Given the description of an element on the screen output the (x, y) to click on. 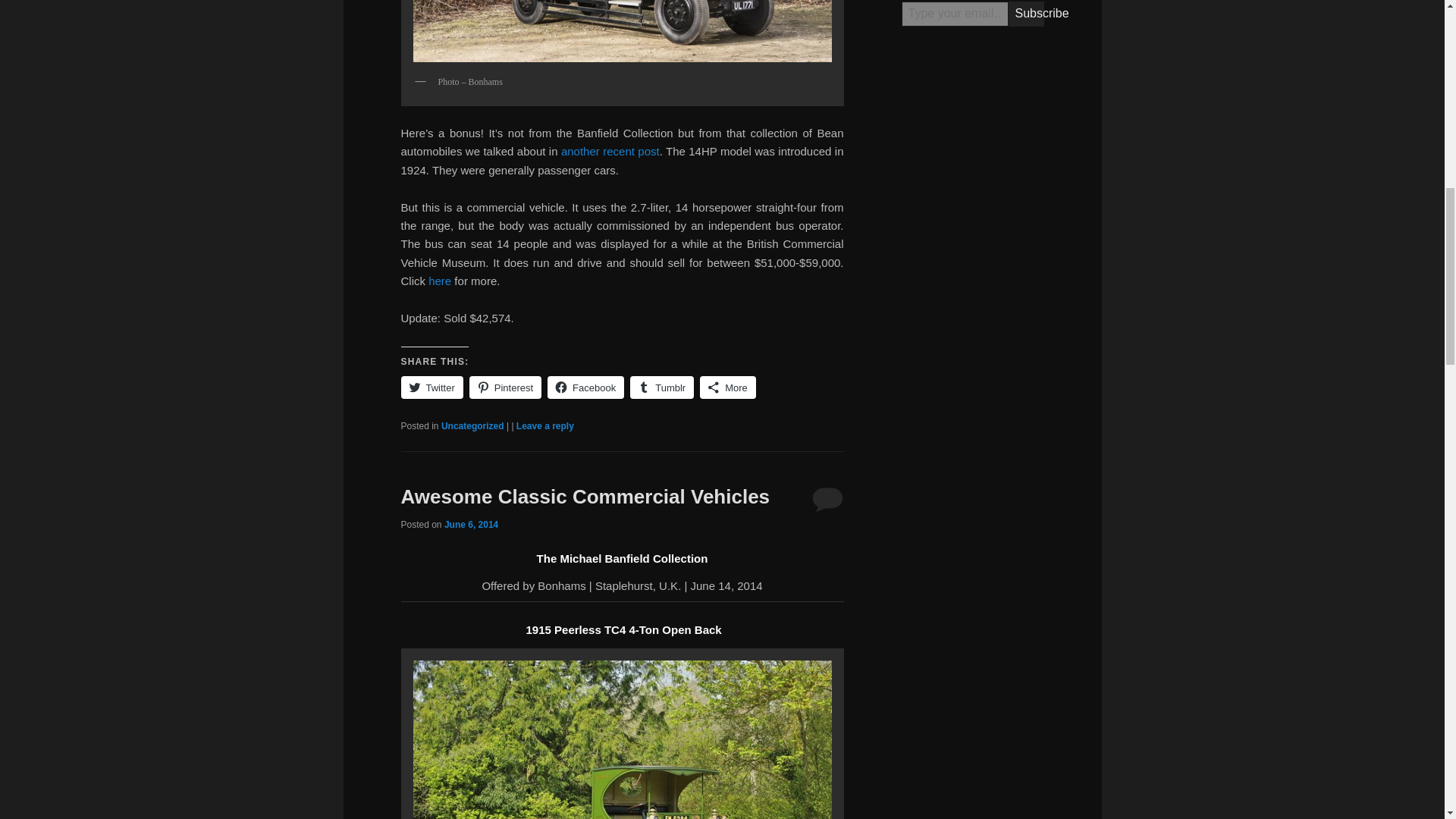
Click to share on Facebook (585, 386)
10:27 am (470, 524)
Click to share on Twitter (431, 386)
Click to share on Pinterest (504, 386)
Click to share on Tumblr (662, 386)
